Given the description of an element on the screen output the (x, y) to click on. 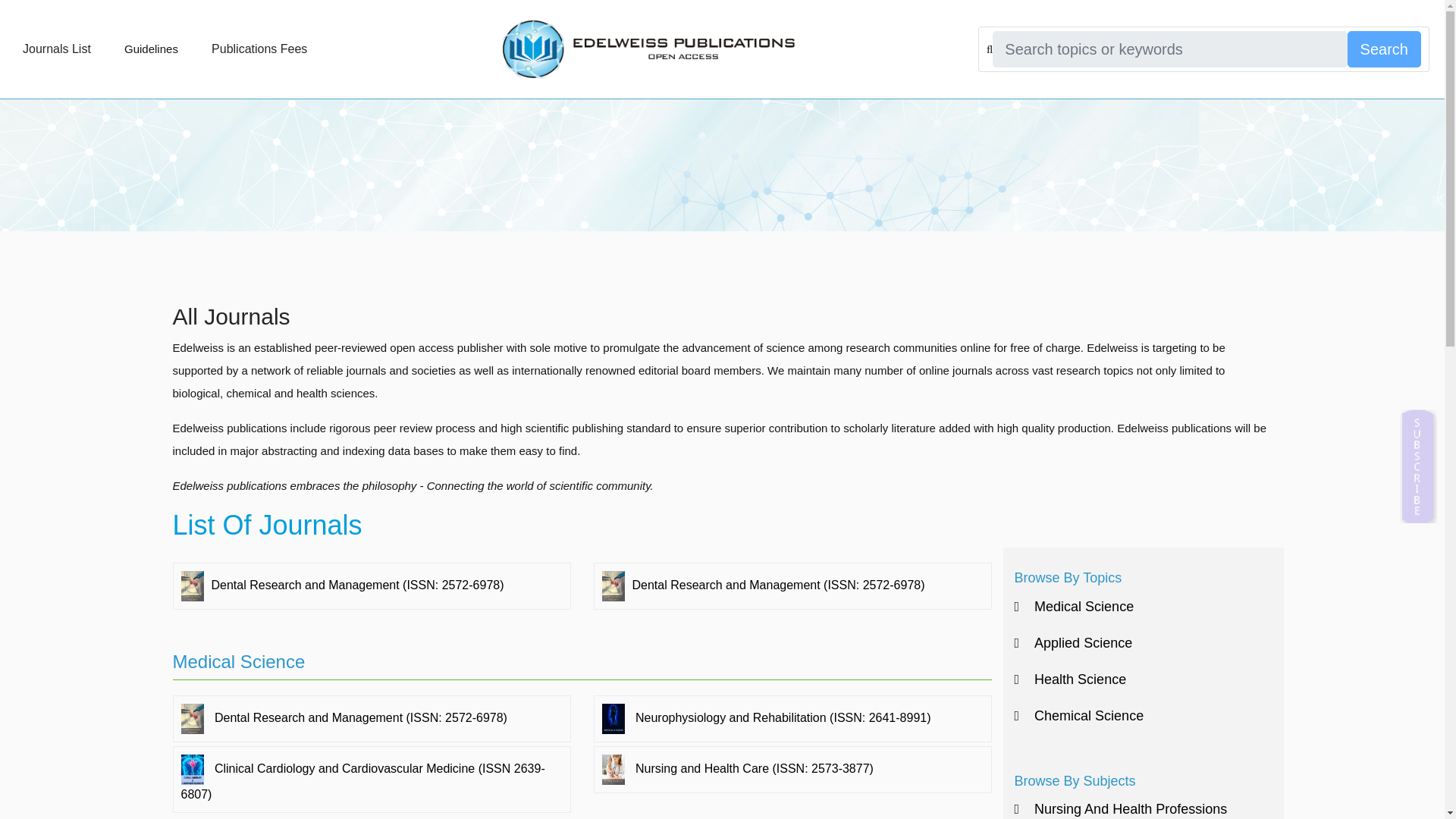
Search (1384, 49)
Nursing And Health Professions (1120, 809)
Journals List (56, 48)
Medical Science (1074, 606)
Chemical Science (1079, 715)
Health Science (1070, 679)
Publications Fees (259, 48)
Applied Science (1073, 642)
